Given the description of an element on the screen output the (x, y) to click on. 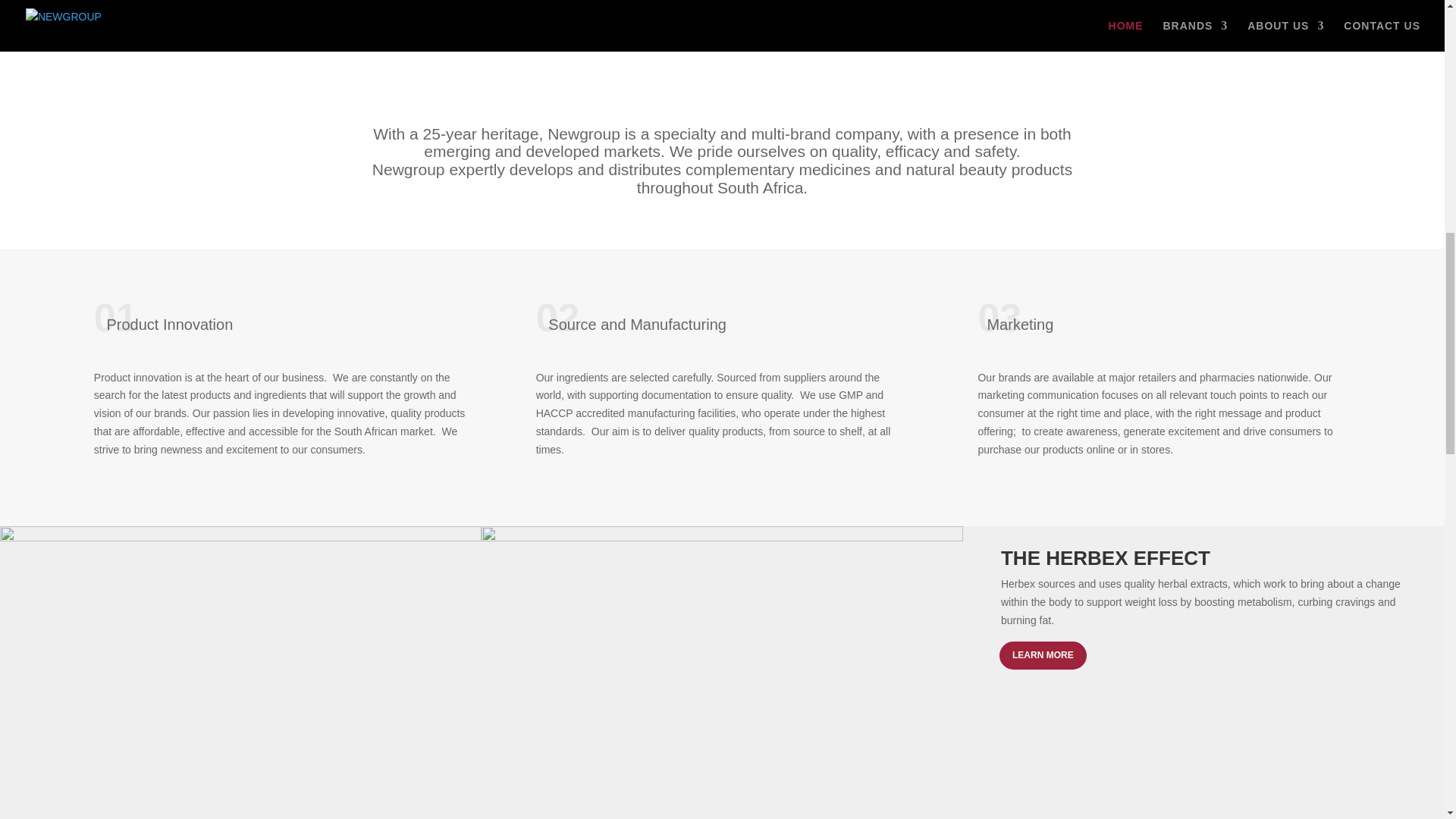
LEARN MORE (1042, 655)
